Given the description of an element on the screen output the (x, y) to click on. 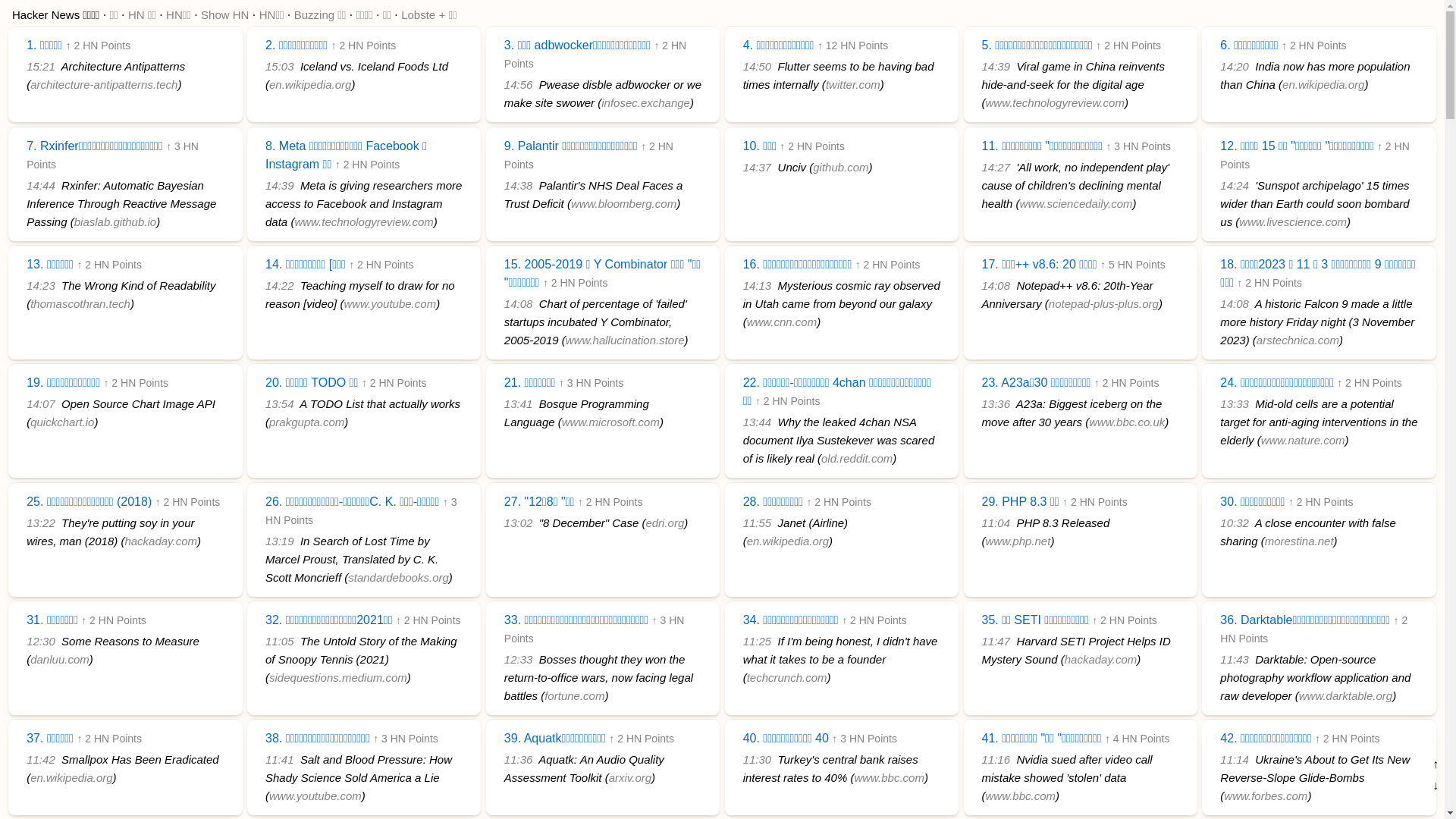
12:30 Element type: text (40, 640)
thomascothran.tech Element type: text (80, 303)
en.wikipedia.org Element type: text (310, 84)
en.wikipedia.org Element type: text (1323, 84)
hackaday.com Element type: text (1100, 658)
10:32 Element type: text (1234, 522)
14:38 Element type: text (518, 184)
techcrunch.com Element type: text (786, 677)
twitter.com Element type: text (852, 84)
14:39 Element type: text (279, 184)
11:25 Element type: text (757, 640)
www.microsoft.com Element type: text (610, 421)
Lobste Element type: text (418, 14)
edri.org Element type: text (664, 522)
11:14 Element type: text (1234, 759)
13:22 Element type: text (40, 522)
www.technologyreview.com Element type: text (363, 221)
www.darktable.org Element type: text (1345, 695)
14:22 Element type: text (279, 285)
11:43 Element type: text (1234, 658)
14:08 Element type: text (1234, 303)
14:37 Element type: text (757, 166)
www.livescience.com Element type: text (1292, 221)
www.bloomberg.com Element type: text (623, 203)
13:36 Element type: text (995, 403)
old.reddit.com Element type: text (856, 457)
www.youtube.com Element type: text (389, 303)
www.hallucination.store Element type: text (624, 339)
github.com Element type: text (840, 166)
www.forbes.com Element type: text (1265, 795)
11:36 Element type: text (518, 759)
morestina.net Element type: text (1298, 540)
11:42 Element type: text (40, 759)
14:23 Element type: text (40, 285)
www.sciencedaily.com Element type: text (1075, 203)
11:30 Element type: text (757, 759)
arstechnica.com Element type: text (1297, 339)
www.bbc.com Element type: text (888, 777)
11:16 Element type: text (995, 759)
14:27 Element type: text (995, 166)
11:47 Element type: text (995, 640)
13:54 Element type: text (279, 403)
12:33 Element type: text (518, 658)
13:19 Element type: text (279, 540)
en.wikipedia.org Element type: text (787, 540)
infosec.exchange Element type: text (645, 102)
danluu.com Element type: text (59, 658)
14:07 Element type: text (40, 403)
biaslab.github.io Element type: text (115, 221)
14:39 Element type: text (995, 65)
14:24 Element type: text (1234, 184)
14:08 Element type: text (995, 285)
14:13 Element type: text (757, 285)
15:03 Element type: text (279, 65)
Show HN Element type: text (224, 14)
14:20 Element type: text (1234, 65)
arxiv.org Element type: text (629, 777)
13:33 Element type: text (1234, 403)
11:55 Element type: text (757, 522)
prakgupta.com Element type: text (306, 421)
hackaday.com Element type: text (160, 540)
standardebooks.org Element type: text (398, 577)
www.bbc.com Element type: text (1020, 795)
13:44 Element type: text (757, 421)
www.nature.com Element type: text (1303, 439)
14:50 Element type: text (757, 65)
en.wikipedia.org Element type: text (71, 777)
www.bbc.co.uk Element type: text (1126, 421)
www.technologyreview.com Element type: text (1054, 102)
11:04 Element type: text (995, 522)
15:21 Element type: text (40, 65)
architecture-antipatterns.tech Element type: text (103, 84)
www.php.net Element type: text (1018, 540)
13:41 Element type: text (518, 403)
13:02 Element type: text (518, 522)
www.youtube.com Element type: text (315, 795)
notepad-plus-plus.org Element type: text (1103, 303)
14:44 Element type: text (40, 184)
11:05 Element type: text (279, 640)
14:08 Element type: text (518, 303)
11:41 Element type: text (279, 759)
www.cnn.com Element type: text (781, 321)
fortune.com Element type: text (574, 695)
14:56 Element type: text (518, 84)
sidequestions.medium.com Element type: text (338, 677)
quickchart.io Element type: text (62, 421)
